Given the description of an element on the screen output the (x, y) to click on. 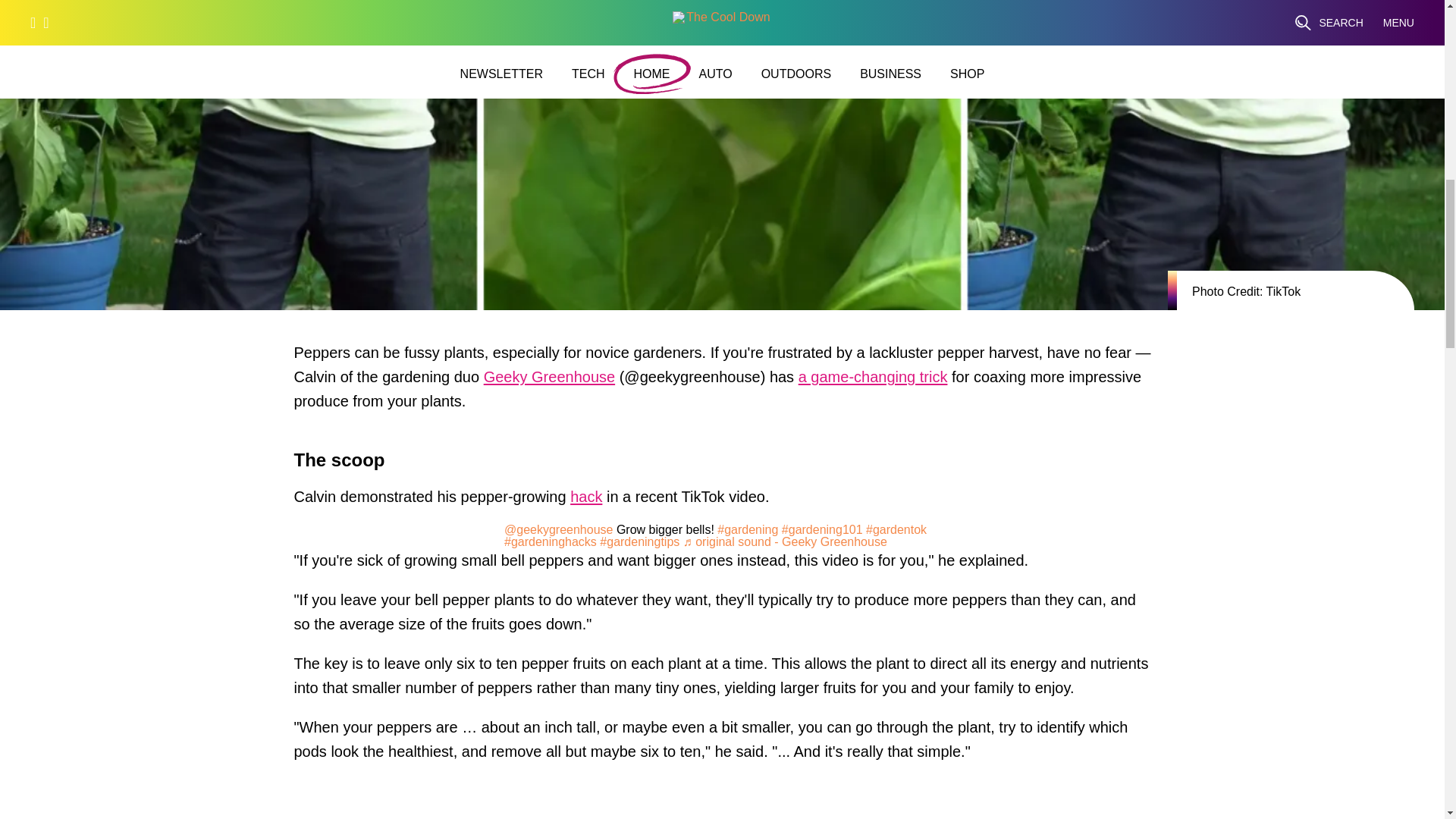
gardeninghacks (549, 541)
gardentok (896, 529)
Geeky Greenhouse (548, 380)
gardening101 (822, 529)
a game-changing trick (872, 380)
gardeningtips (639, 541)
Hacks (586, 500)
gardening (747, 529)
hack (586, 500)
